Given the description of an element on the screen output the (x, y) to click on. 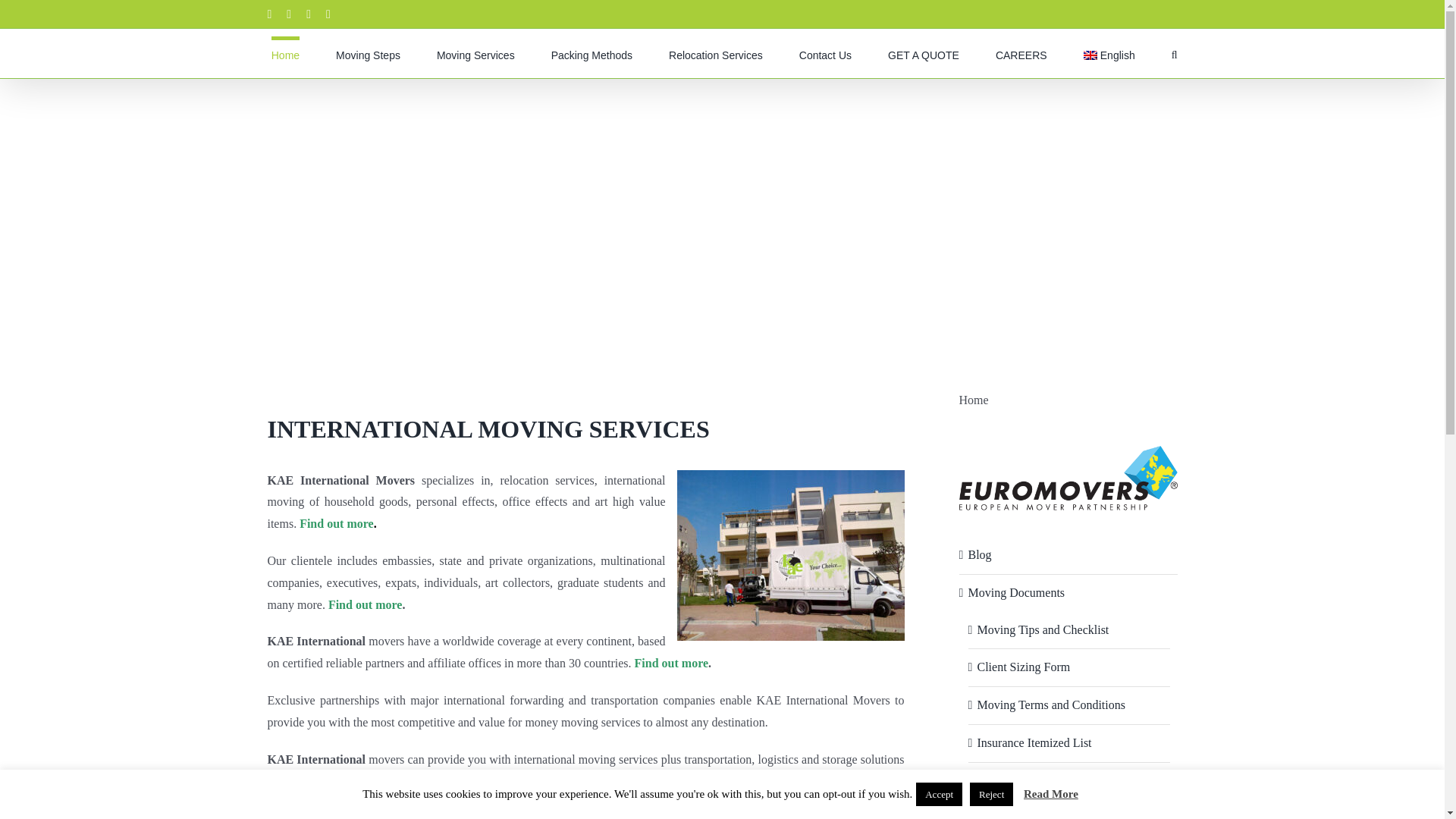
Moving Services (475, 53)
Moving Steps (368, 53)
Packing Methods (591, 53)
Contact Us (825, 53)
English (1109, 53)
GET A QUOTE (923, 53)
CAREERS (1020, 53)
Packing Methods and Materials (591, 53)
Relocation Services (715, 53)
